Given the description of an element on the screen output the (x, y) to click on. 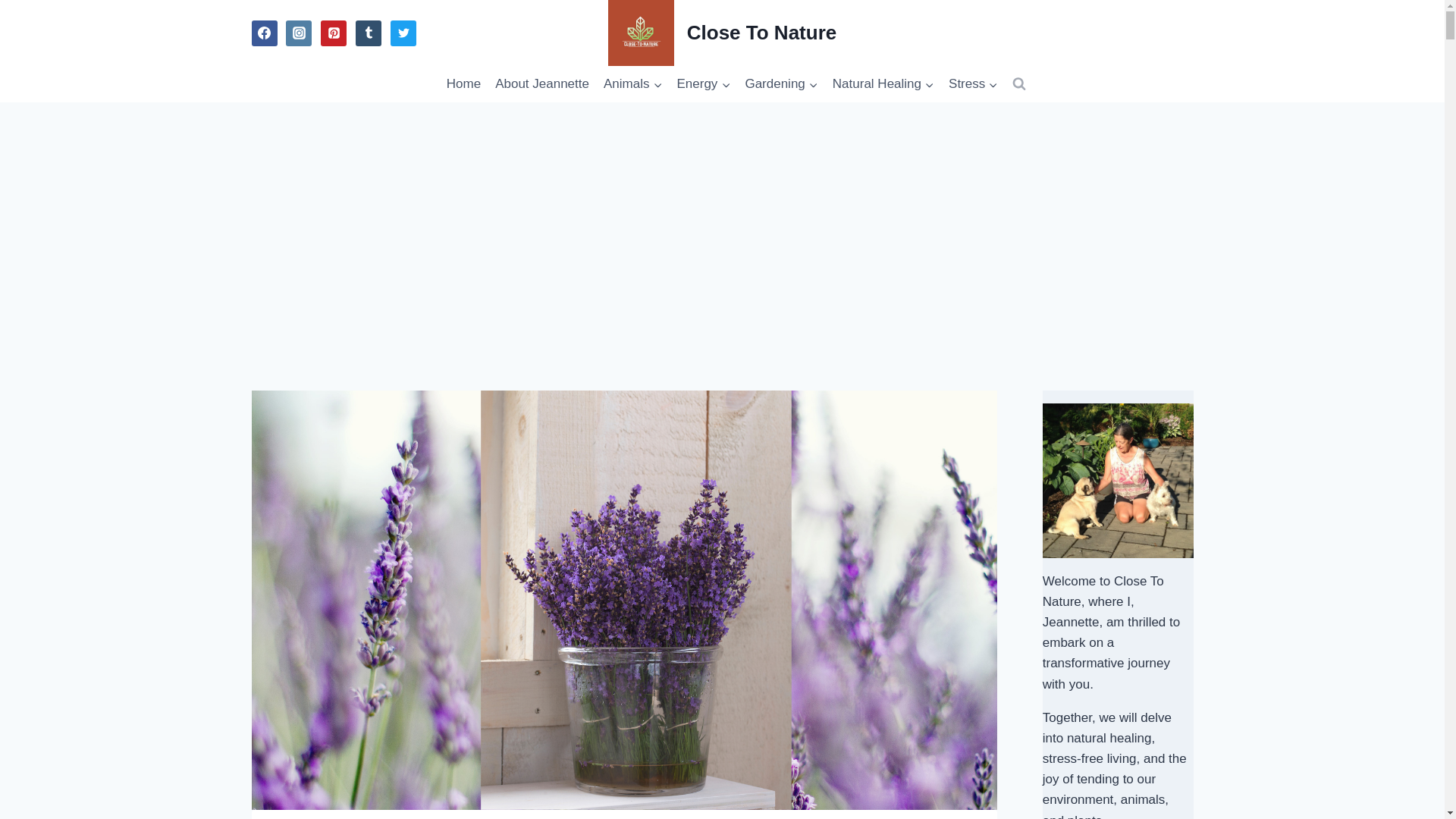
Animals (632, 84)
Gardening (781, 84)
Energy (703, 84)
Close To Nature (721, 33)
About Jeannette (541, 84)
Home (463, 84)
Stress (974, 84)
Natural Healing (882, 84)
